Given the description of an element on the screen output the (x, y) to click on. 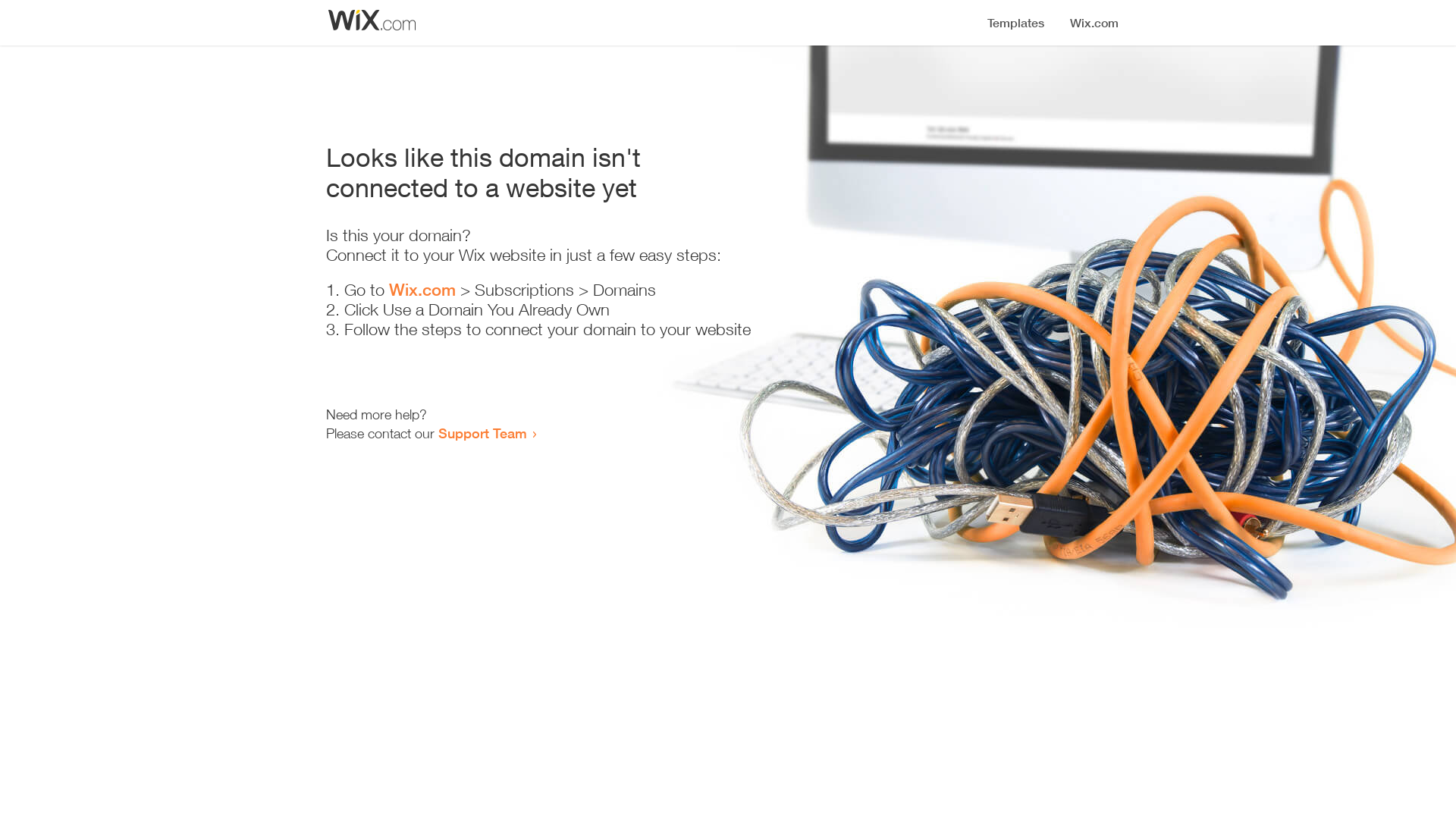
Support Team Element type: text (482, 432)
Wix.com Element type: text (422, 289)
